Given the description of an element on the screen output the (x, y) to click on. 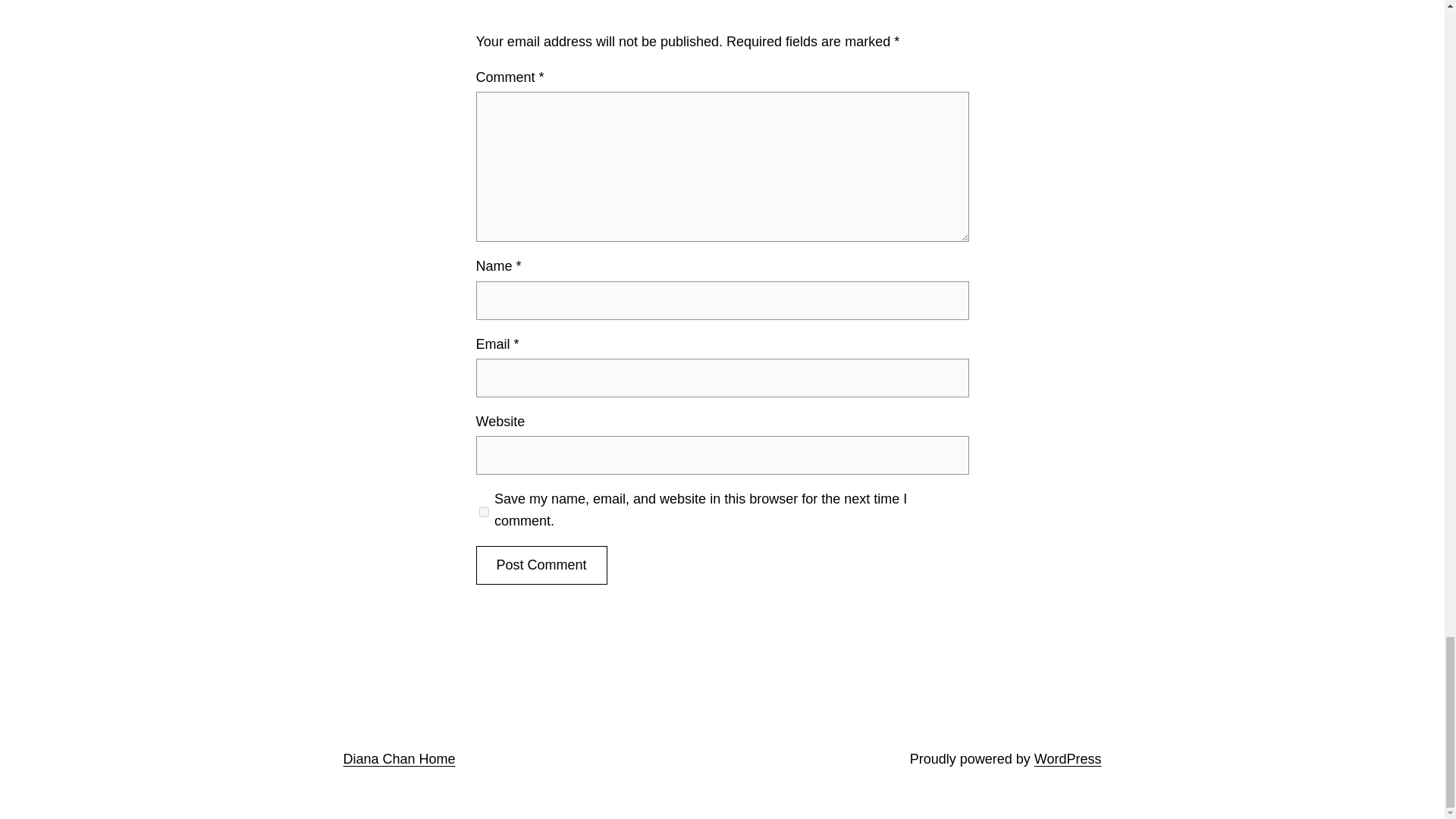
Post Comment (541, 565)
WordPress (1067, 758)
Post Comment (541, 565)
Diana Chan Home (398, 758)
